Given the description of an element on the screen output the (x, y) to click on. 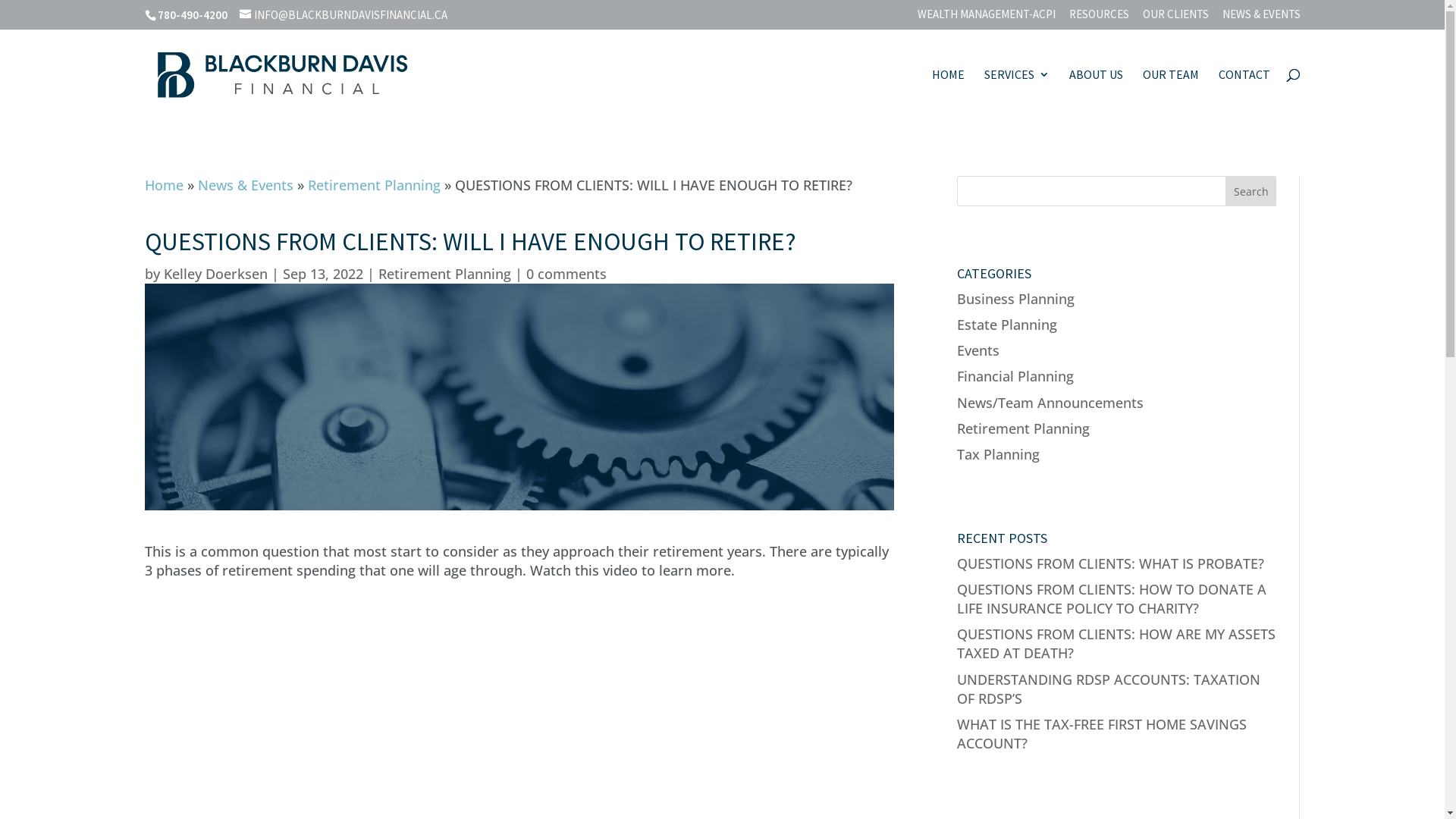
News/Team Announcements Element type: text (1050, 401)
Watch Gears Element type: hover (518, 396)
0 comments Element type: text (566, 273)
SERVICES Element type: text (1016, 93)
Home Element type: text (163, 184)
OUR TEAM Element type: text (1170, 93)
Financial Planning Element type: text (1015, 376)
QUESTIONS FROM CLIENTS: HOW ARE MY ASSETS TAXED AT DEATH? Element type: text (1116, 643)
Estate Planning Element type: text (1007, 324)
Tax Planning Element type: text (998, 454)
Retirement Planning Element type: text (373, 184)
OUR CLIENTS Element type: text (1175, 18)
Retirement Planning Element type: text (443, 273)
ABOUT US Element type: text (1096, 93)
CONTACT Element type: text (1243, 93)
Retirement Planning Element type: text (1023, 428)
QUESTIONS FROM CLIENTS: WHAT IS PROBATE? Element type: text (1110, 563)
Kelley Doerksen Element type: text (215, 273)
HOME Element type: text (947, 93)
Search Element type: text (1251, 190)
WHAT IS THE TAX-FREE FIRST HOME SAVINGS ACCOUNT? Element type: text (1101, 733)
RESOURCES Element type: text (1099, 18)
Business Planning Element type: text (1015, 298)
INFO@BLACKBURNDAVISFINANCIAL.CA Element type: text (343, 14)
WEALTH MANAGEMENT-ACPI Element type: text (986, 18)
News & Events Element type: text (244, 184)
Events Element type: text (978, 350)
NEWS & EVENTS Element type: text (1261, 18)
